Given the description of an element on the screen output the (x, y) to click on. 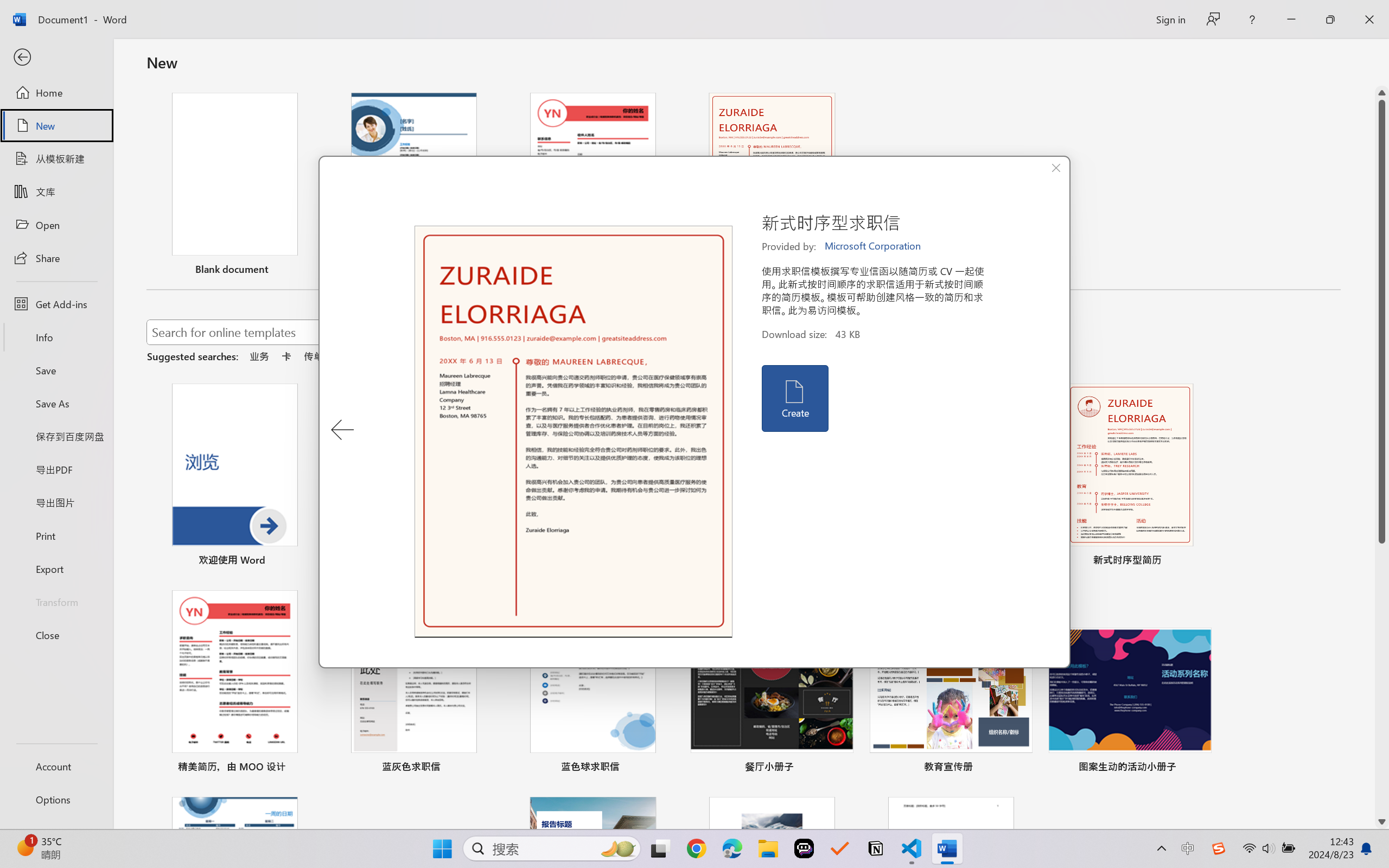
Line up (1382, 92)
Page down (1382, 679)
Transform (56, 601)
Get Add-ins (56, 303)
Previous Template (342, 430)
